Given the description of an element on the screen output the (x, y) to click on. 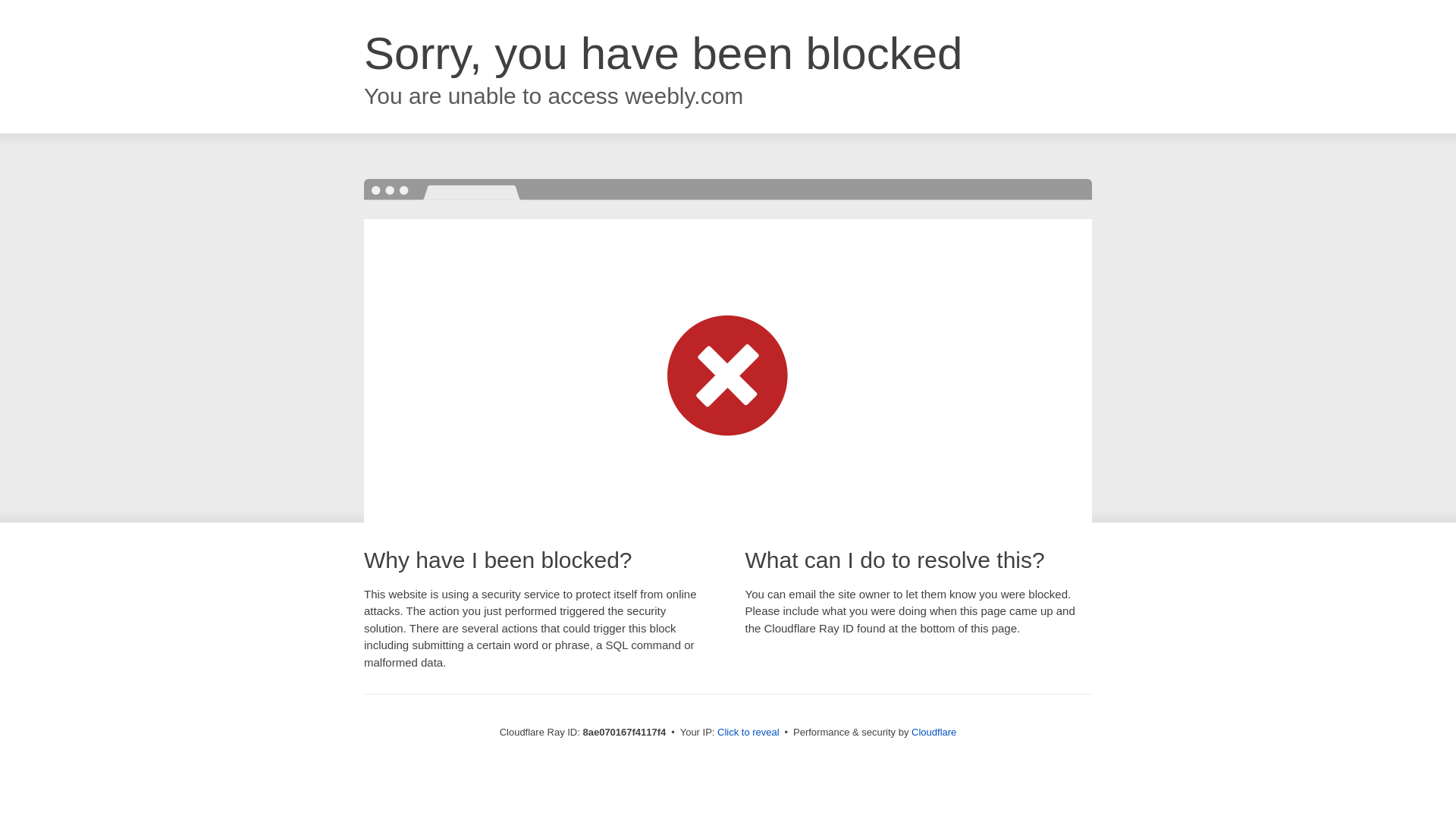
Cloudflare (933, 731)
Click to reveal (747, 732)
